Given the description of an element on the screen output the (x, y) to click on. 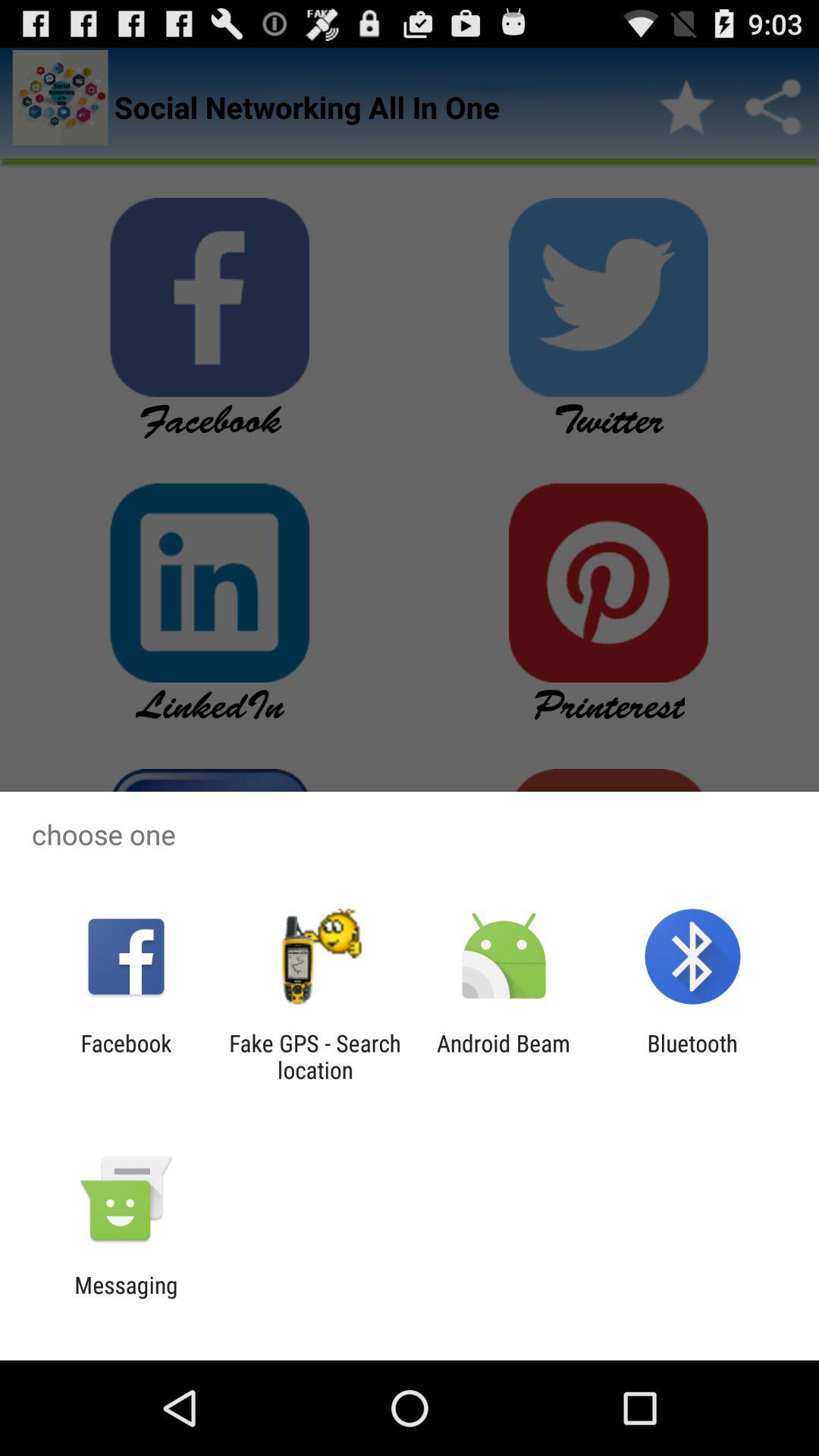
choose the app to the left of the fake gps search item (125, 1056)
